Given the description of an element on the screen output the (x, y) to click on. 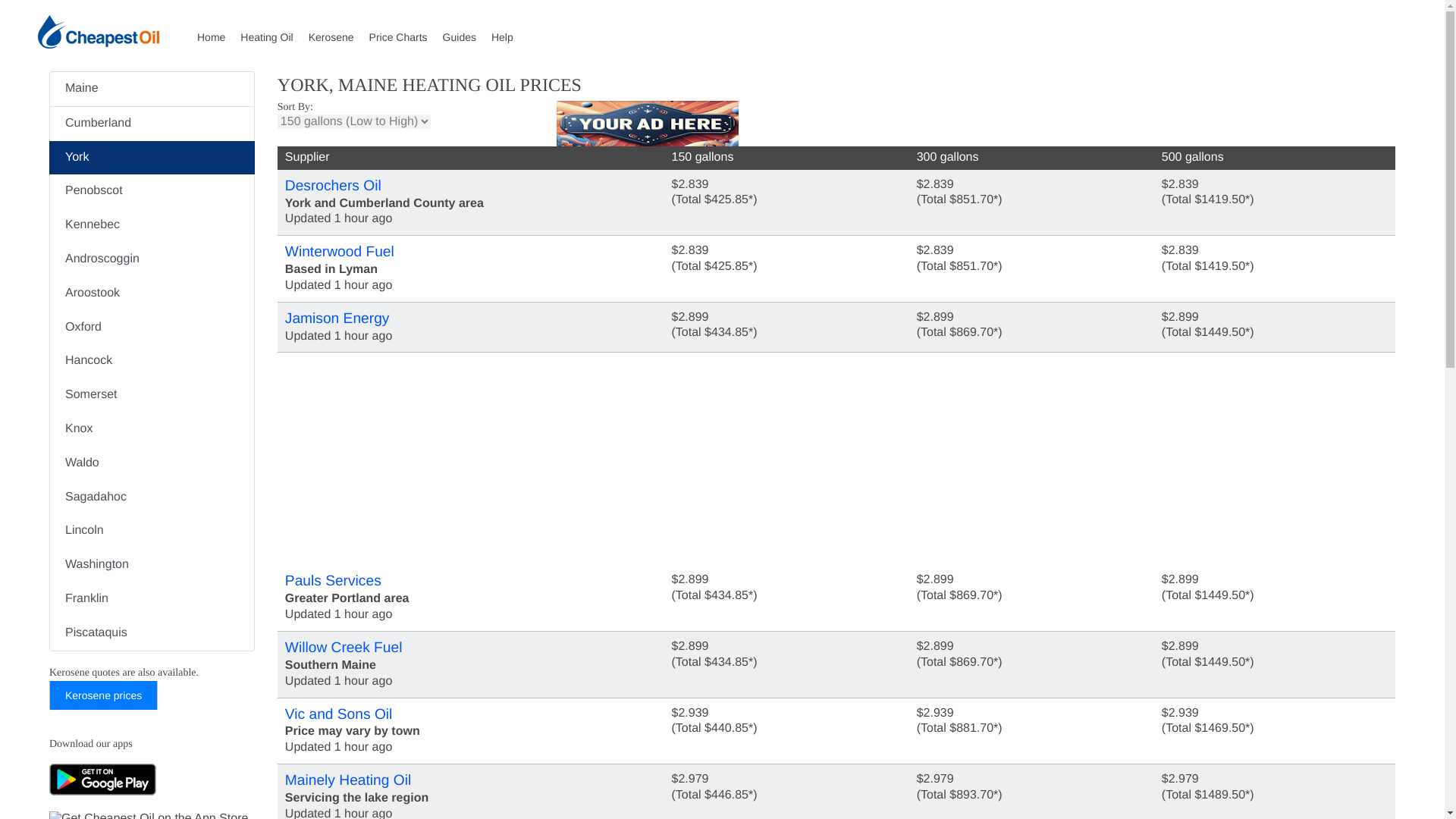
Kerosene (338, 29)
Somerset (151, 395)
Sagadahoc (151, 497)
Vic and Sons Oil (459, 714)
Home (218, 29)
Washington (151, 564)
Piscataquis (151, 633)
Price Charts (405, 29)
Waldo (151, 463)
Penobscot (151, 191)
